Given the description of an element on the screen output the (x, y) to click on. 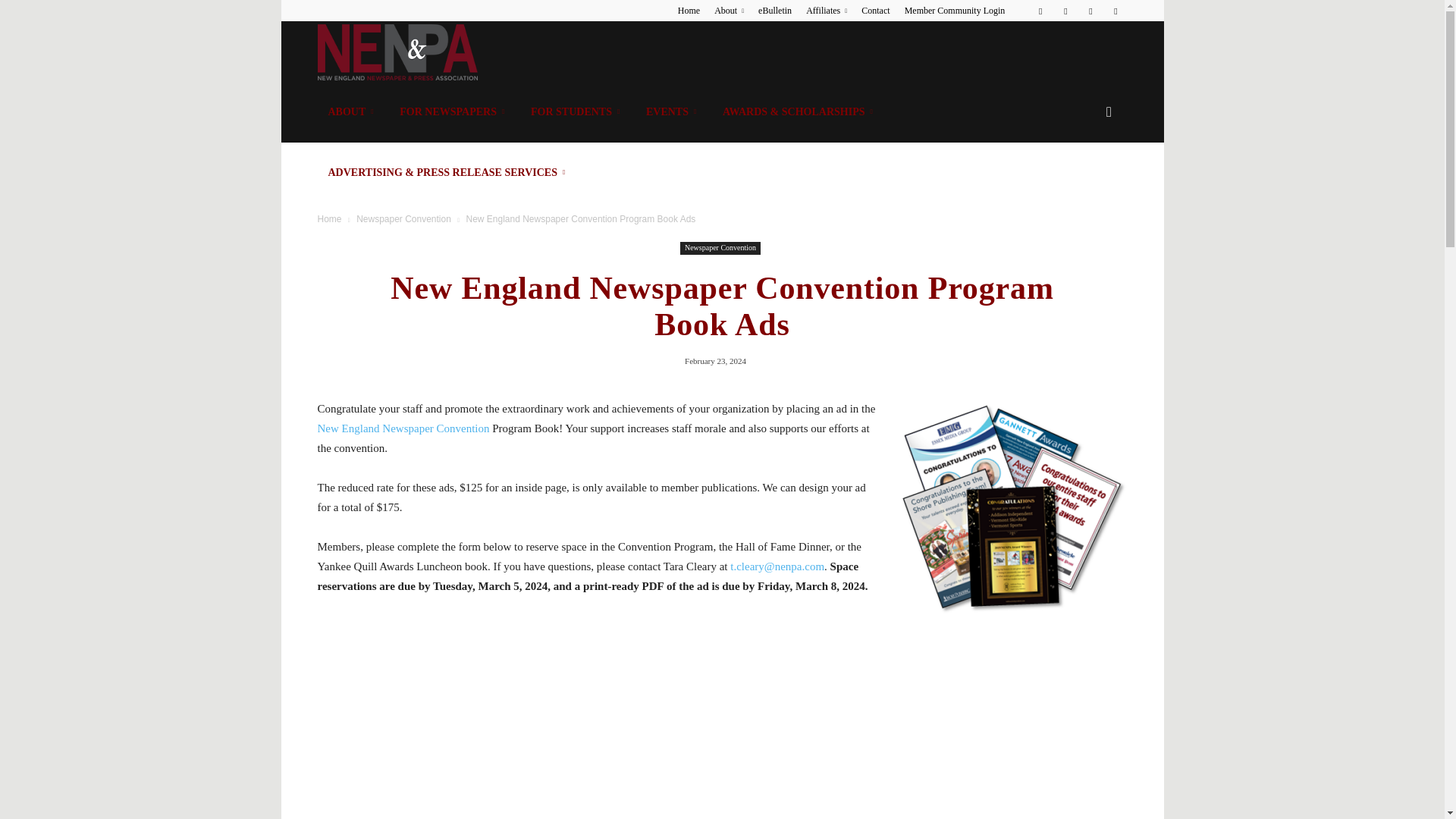
Linkedin (1065, 10)
Twitter (1114, 10)
Mail (1090, 10)
View all posts in Newspaper Convention (403, 218)
Facebook (1040, 10)
